Given the description of an element on the screen output the (x, y) to click on. 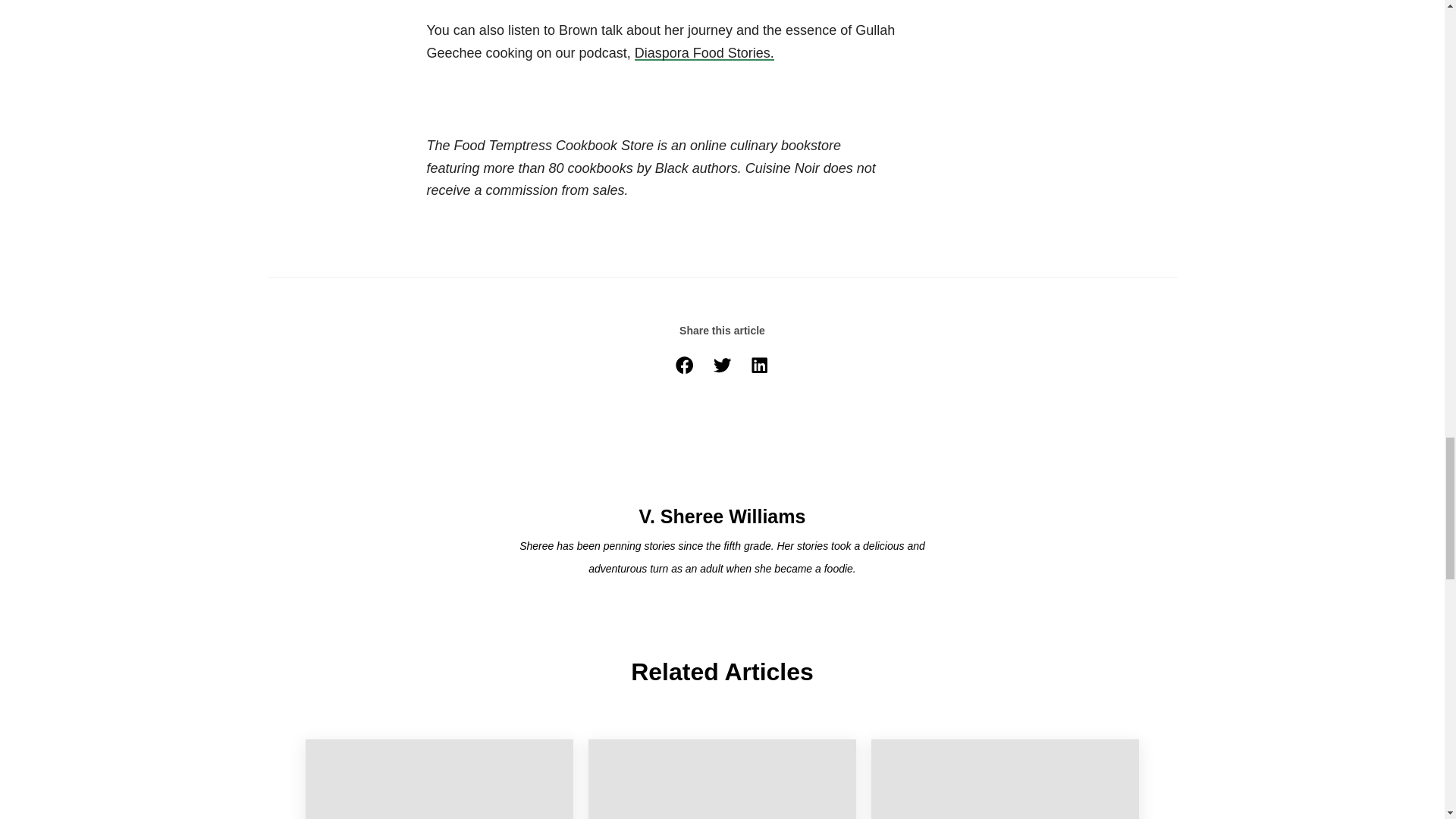
Trap Kitchen III: The Art of Street Cocktails (722, 779)
V. Sheree Williams (721, 461)
Cooking for the Culture (1004, 779)
View All posts by V. Sheree Williams (722, 516)
Southern Cooking Global Flavors (438, 779)
